Given the description of an element on the screen output the (x, y) to click on. 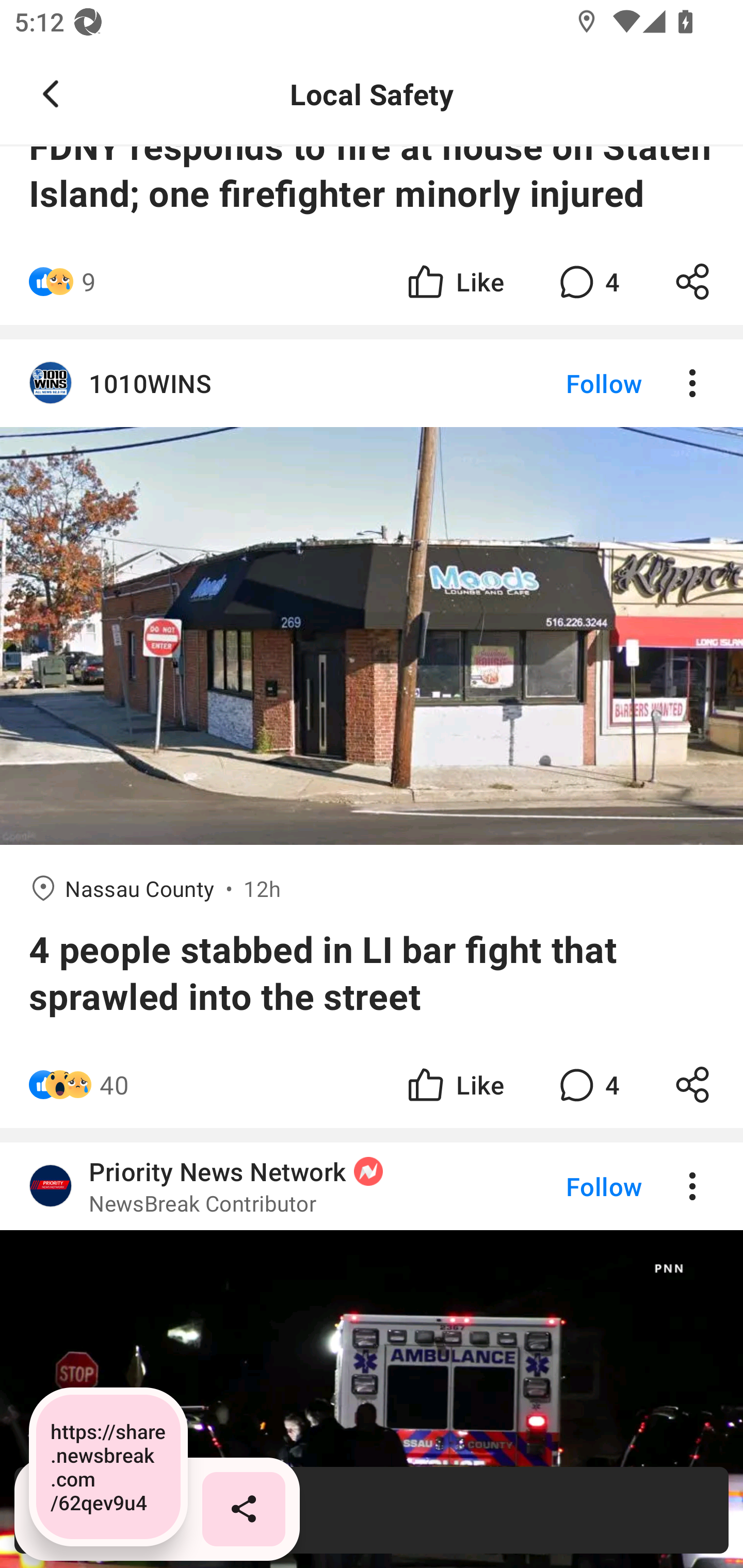
Navigate up (50, 93)
9 (88, 281)
Like (454, 281)
4 (587, 281)
1010WINS Follow (371, 382)
Follow (569, 382)
40 (114, 1084)
Like (454, 1084)
4 (587, 1084)
Priority News Network NewsBreak Contributor Follow (371, 1186)
Follow (569, 1186)
